Given the description of an element on the screen output the (x, y) to click on. 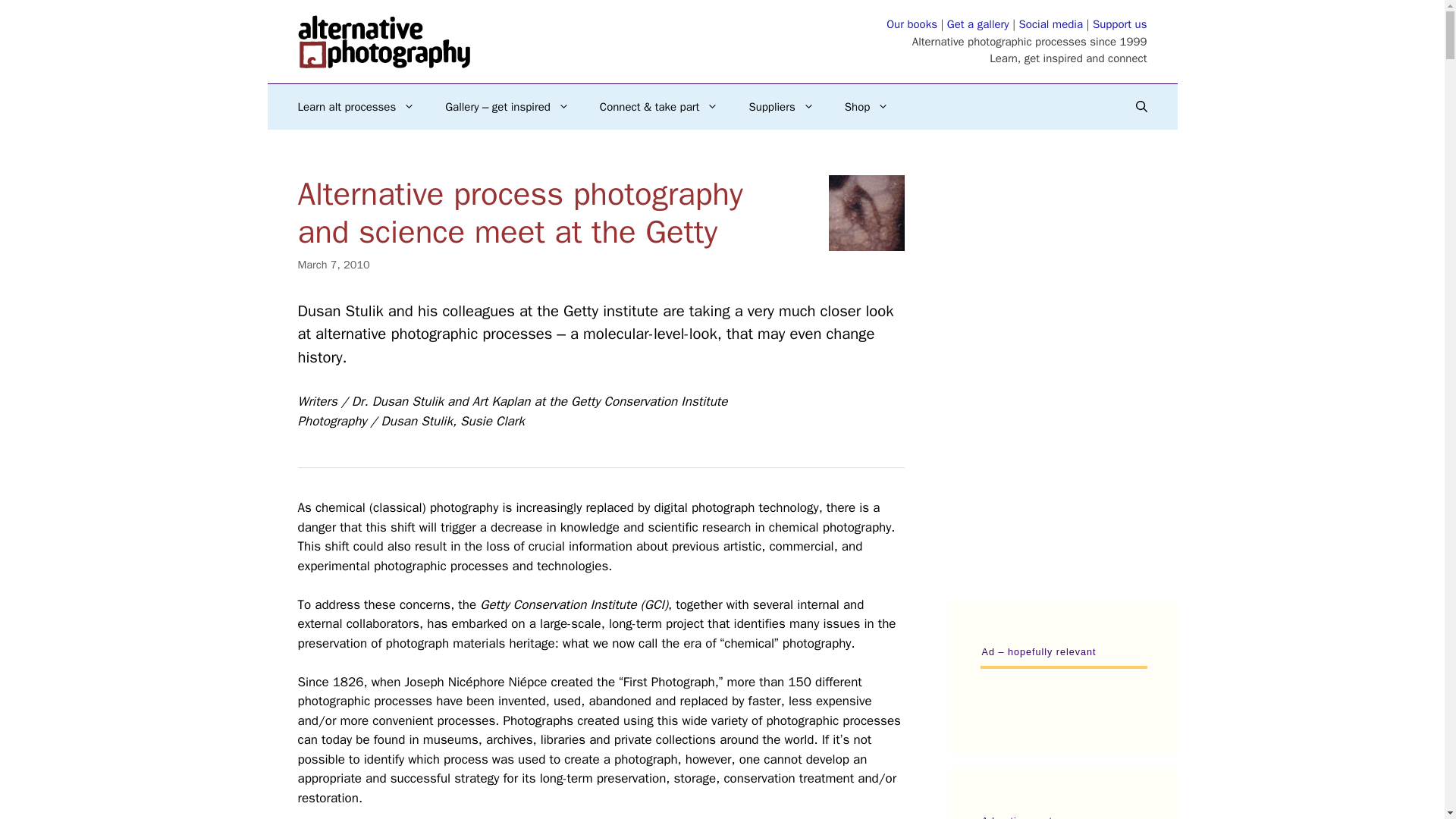
Social media (1051, 24)
Support us (1120, 24)
Learn alt processes (355, 106)
Get a gallery (978, 24)
Our books (911, 24)
